Given the description of an element on the screen output the (x, y) to click on. 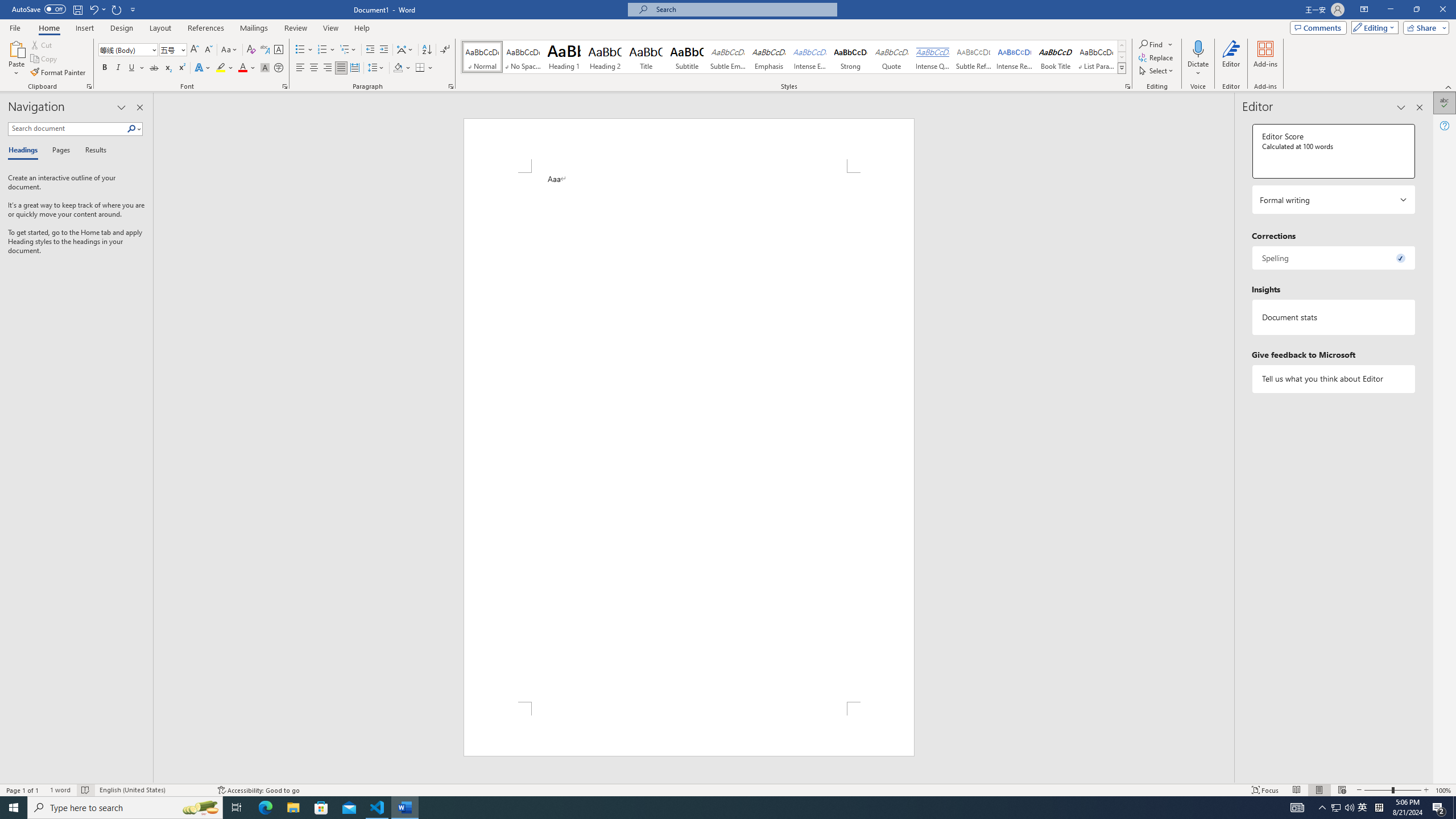
Enclose Characters... (278, 67)
AutomationID: QuickStylesGallery (794, 56)
Clear Formatting (250, 49)
Row Down (1121, 56)
Justify (340, 67)
Undo Increase Indent (96, 9)
